Given the description of an element on the screen output the (x, y) to click on. 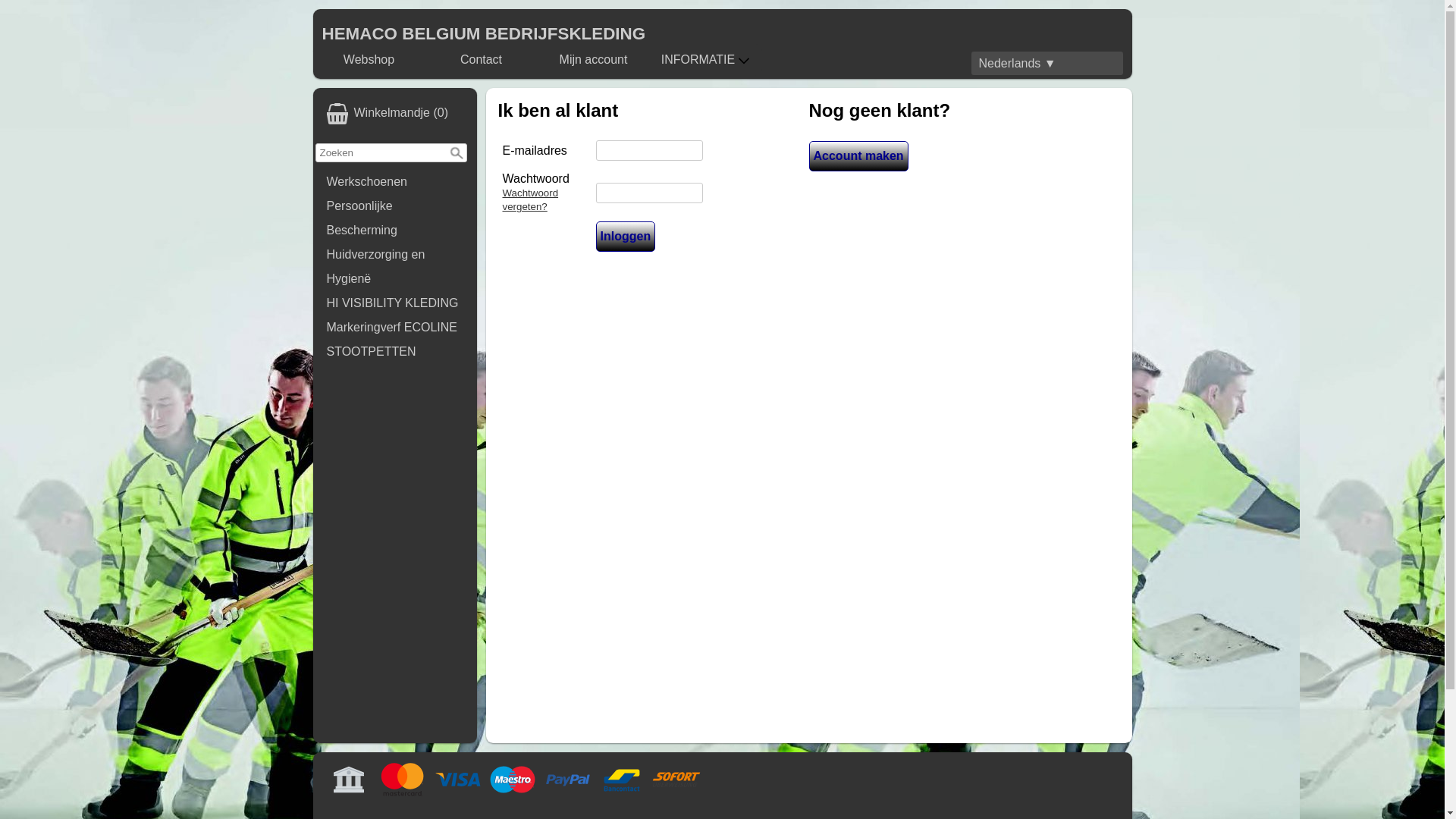
Inloggen Element type: text (625, 236)
Wachtwoord vergeten? Element type: text (530, 199)
HI VISIBILITY KLEDING Element type: text (394, 303)
Mijn account Element type: text (593, 59)
Webshop Element type: text (368, 59)
Markeringverf ECOLINE Element type: text (394, 327)
HEMACO BELGIUM BEDRIJFSKLEDING Element type: text (483, 33)
Contact Element type: text (481, 59)
Account maken Element type: text (857, 156)
INFORMATIE Element type: text (705, 59)
WinkelmandjeWinkelmandje (0) Element type: text (394, 113)
Werkschoenen Element type: text (394, 181)
Persoonlijke Bescherming Element type: text (394, 218)
STOOTPETTEN Element type: text (394, 351)
